Given the description of an element on the screen output the (x, y) to click on. 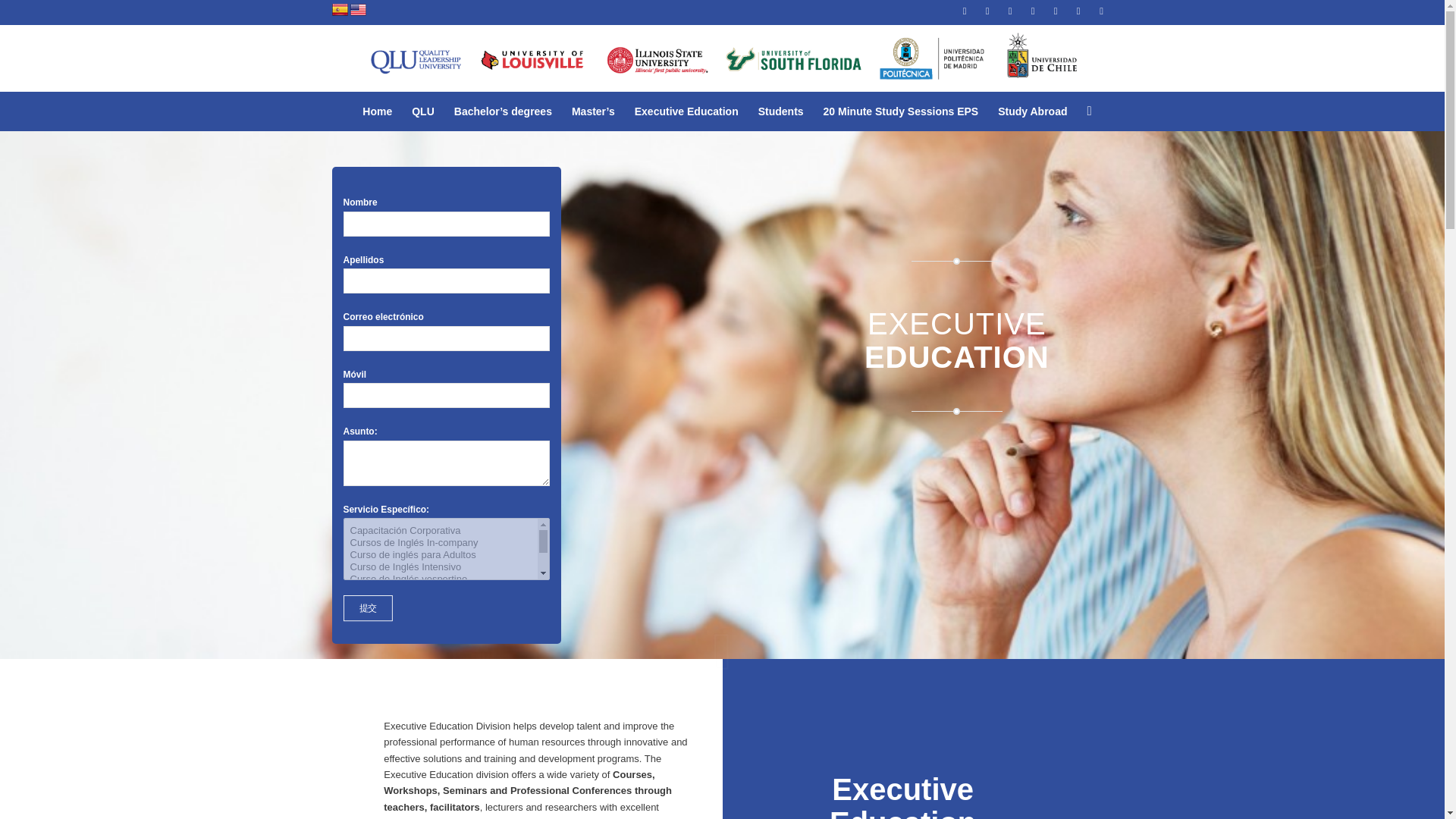
Linkedin (1056, 11)
Twitter (1032, 11)
QLU (422, 111)
Gplus (987, 11)
Home (376, 111)
Rss (964, 11)
Youtube (1078, 11)
Facebook (1010, 11)
Instagram (1101, 11)
